Given the description of an element on the screen output the (x, y) to click on. 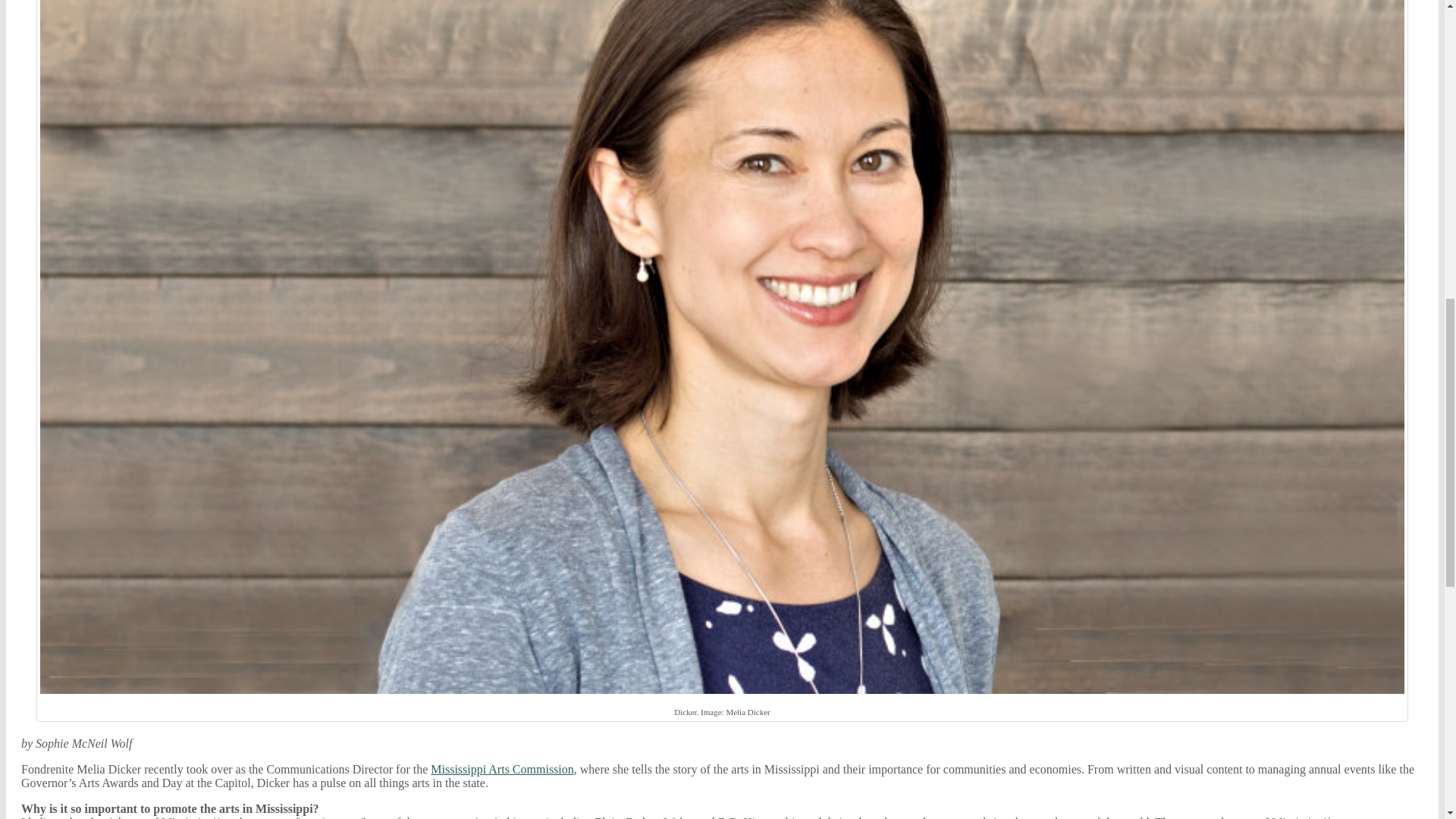
Mississippi Arts Commission (501, 768)
